Given the description of an element on the screen output the (x, y) to click on. 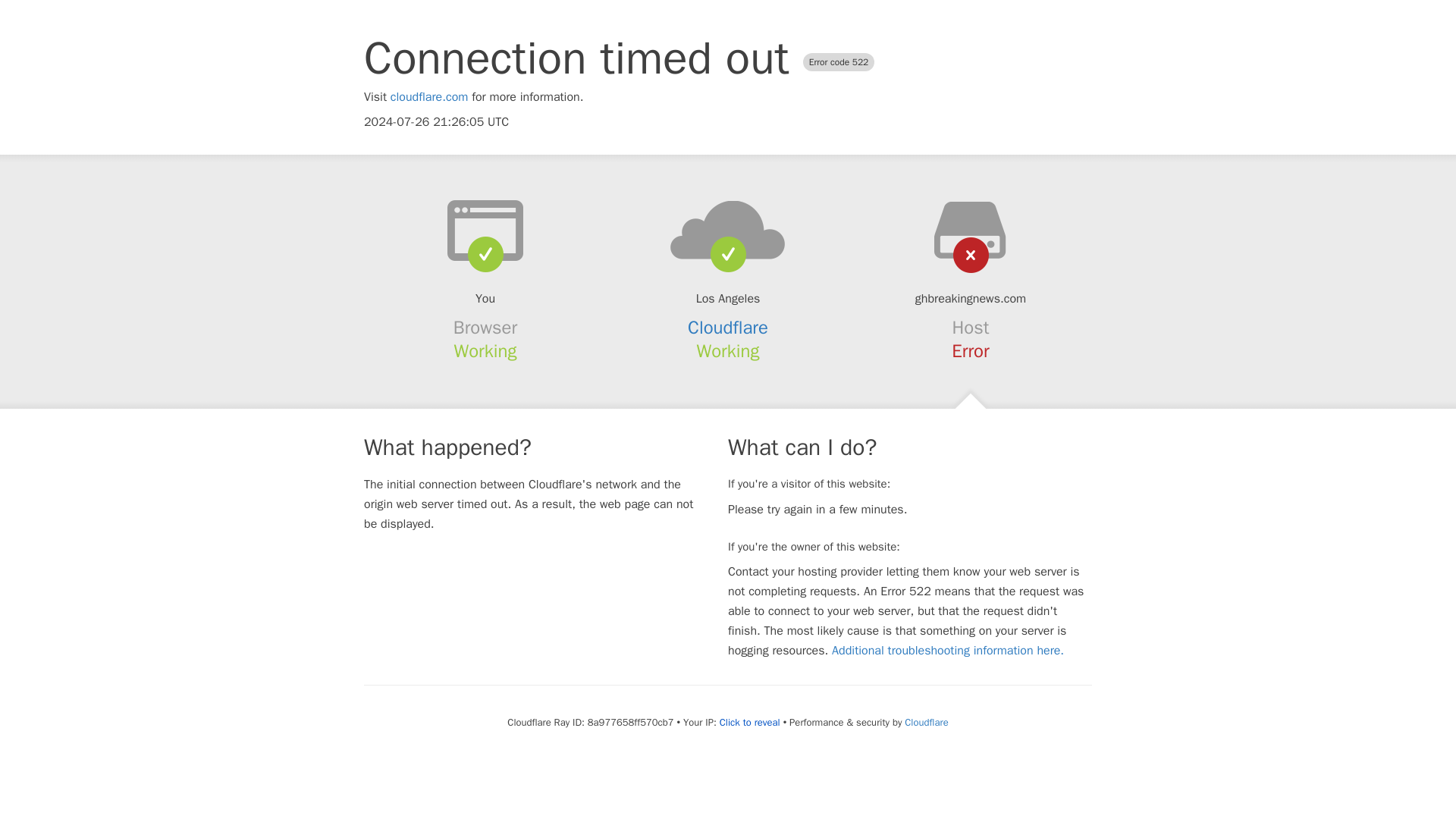
Cloudflare (727, 327)
Cloudflare (925, 721)
Click to reveal (749, 722)
cloudflare.com (429, 96)
Additional troubleshooting information here. (947, 650)
